Given the description of an element on the screen output the (x, y) to click on. 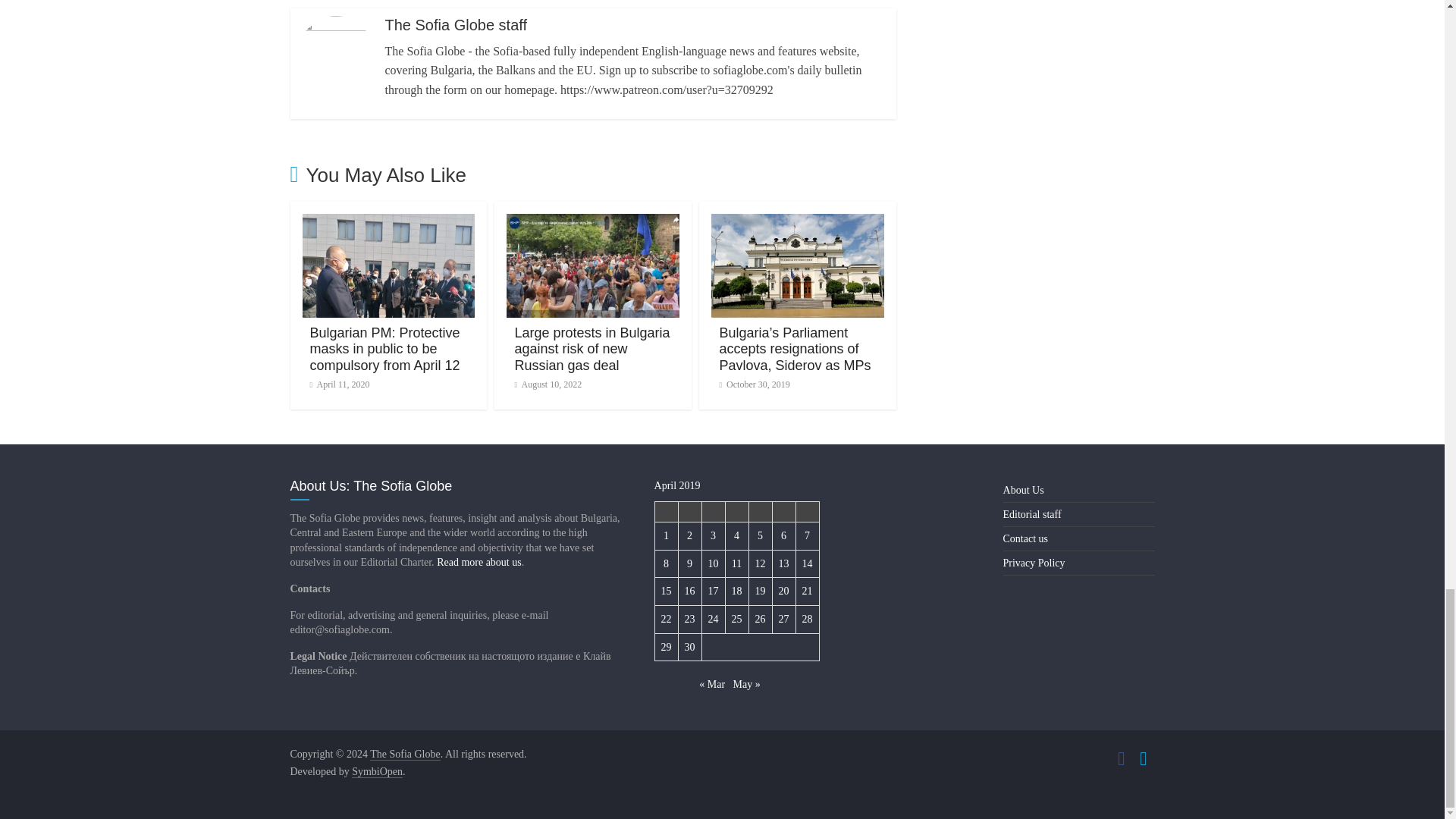
August 10, 2022 (546, 384)
October 30, 2019 (754, 384)
11:24 PM (546, 384)
10:45 AM (338, 384)
